Given the description of an element on the screen output the (x, y) to click on. 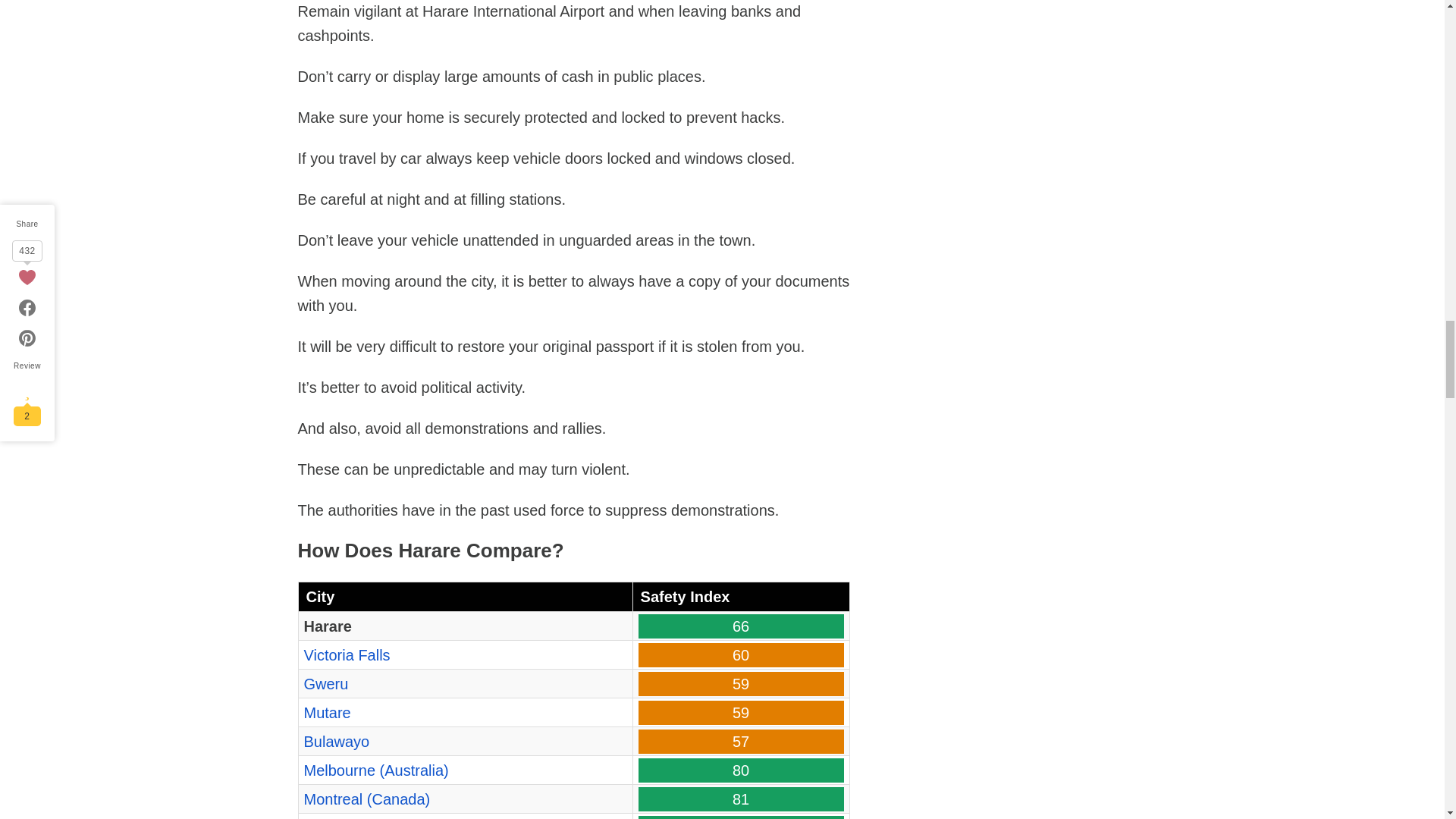
Montreal Safety Review (365, 799)
Gweru Safety Review (324, 683)
Mutare (326, 712)
Bulawayo (335, 741)
Melbourne Safety Review (375, 770)
Gweru (324, 683)
Victoria Falls Safety Review (346, 655)
Bulawayo Safety Review (335, 741)
Victoria Falls (346, 655)
Mutare Safety Review (326, 712)
